Given the description of an element on the screen output the (x, y) to click on. 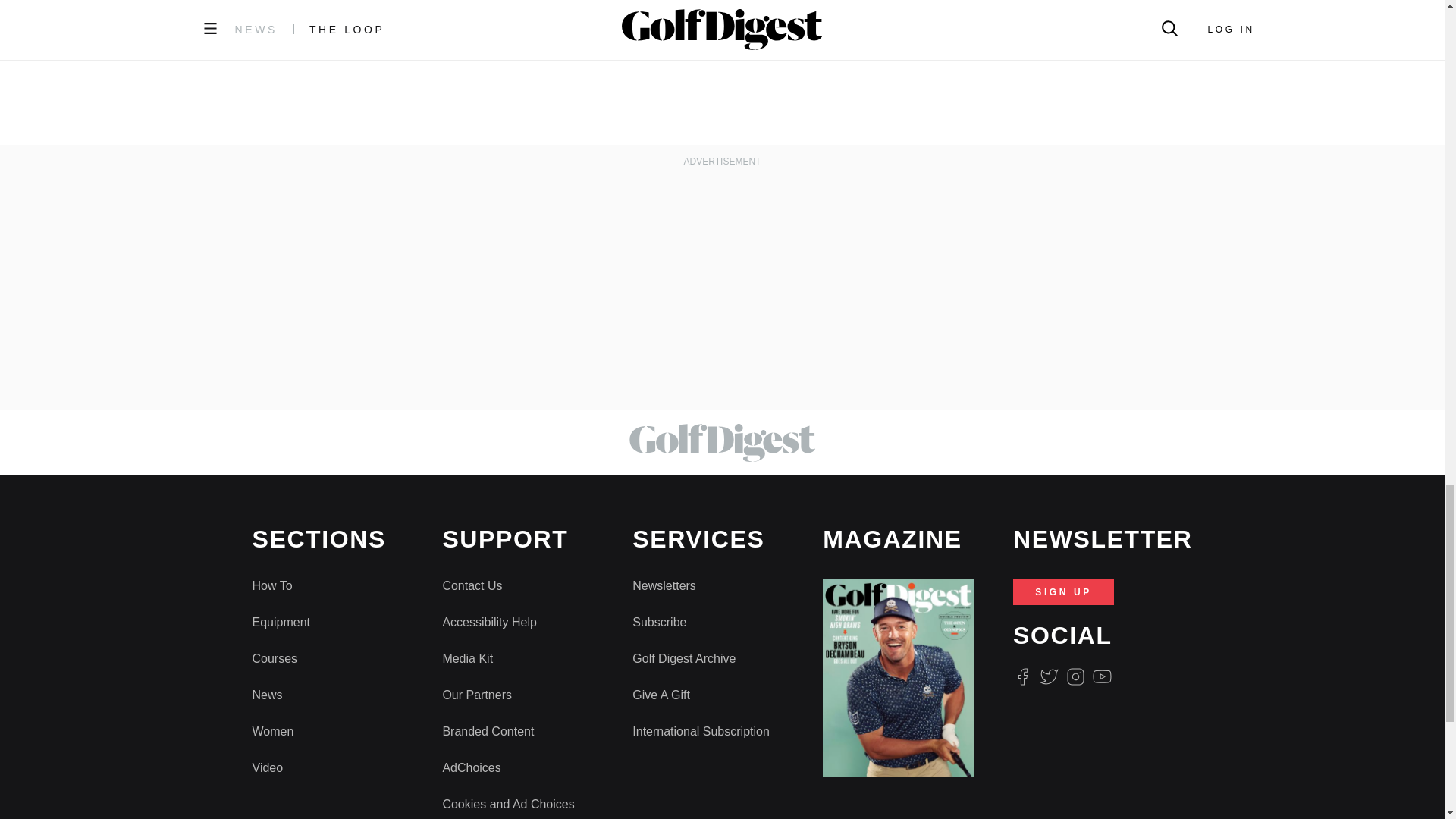
Facebook Logo (1022, 676)
Twitter Logo (1048, 676)
Youtube Icon (1102, 676)
Instagram Logo (1074, 676)
